Given the description of an element on the screen output the (x, y) to click on. 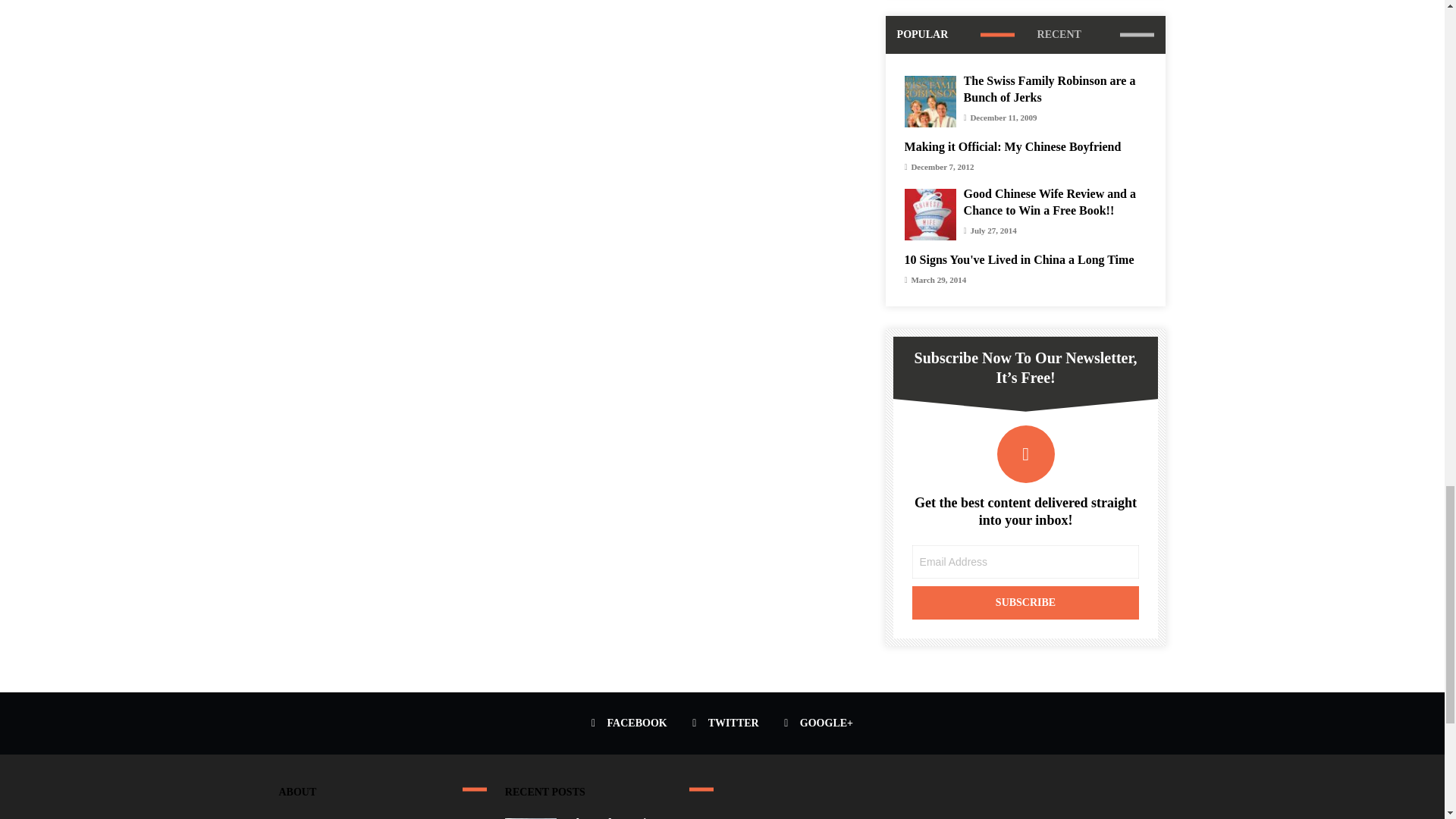
Permalink to: 10 Signs You've Lived in China a Long Time (1019, 259)
Permalink to: The Swiss Family Robinson are a Bunch of Jerks (1049, 89)
Subscribe (1026, 602)
Permalink to: Making it Official: My Chinese Boyfriend (1012, 146)
